Given the description of an element on the screen output the (x, y) to click on. 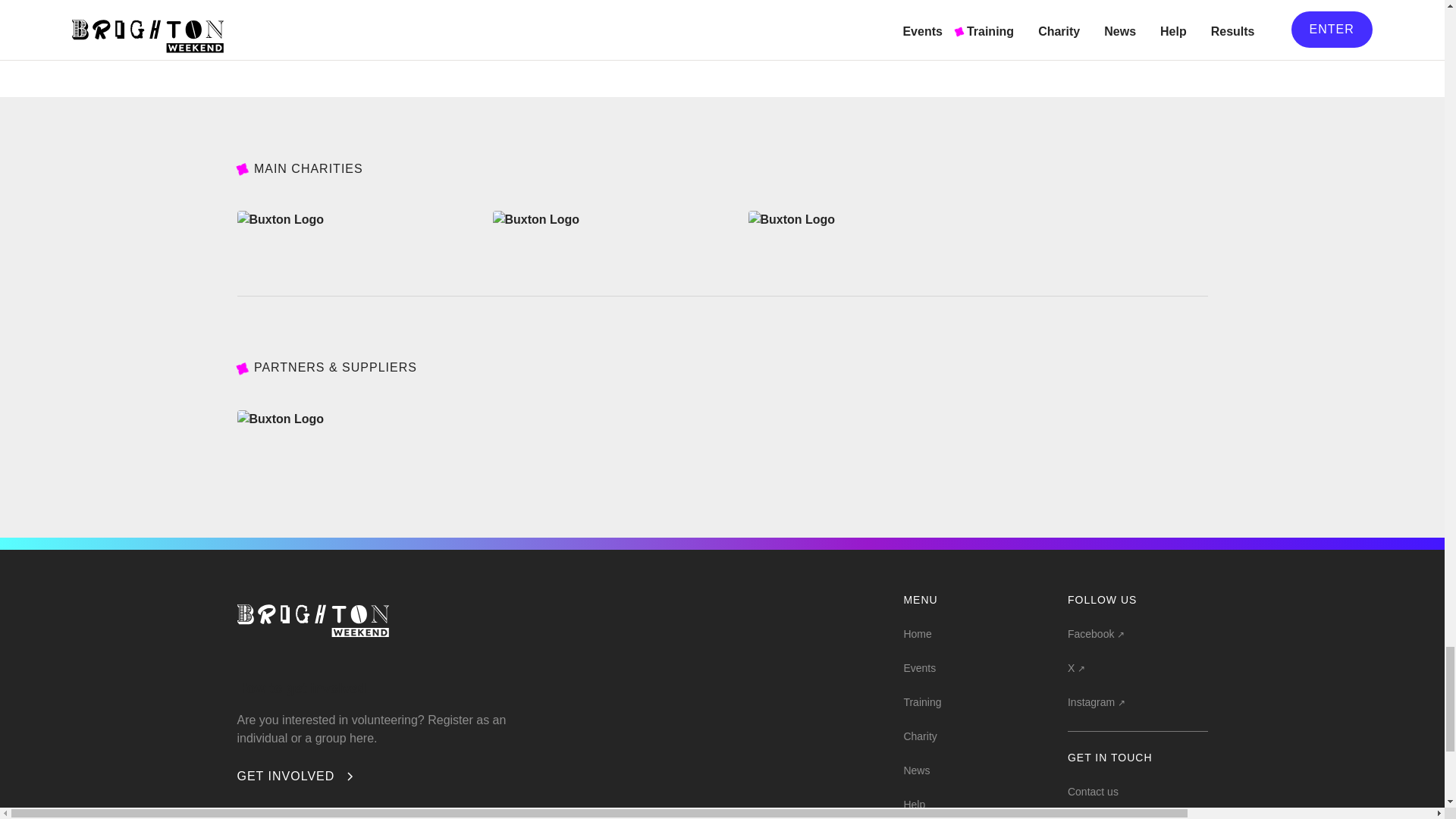
Home (916, 631)
Charity (919, 734)
Events (919, 666)
Help (913, 802)
GET INVOLVED (295, 776)
Training (921, 700)
News (916, 768)
